Given the description of an element on the screen output the (x, y) to click on. 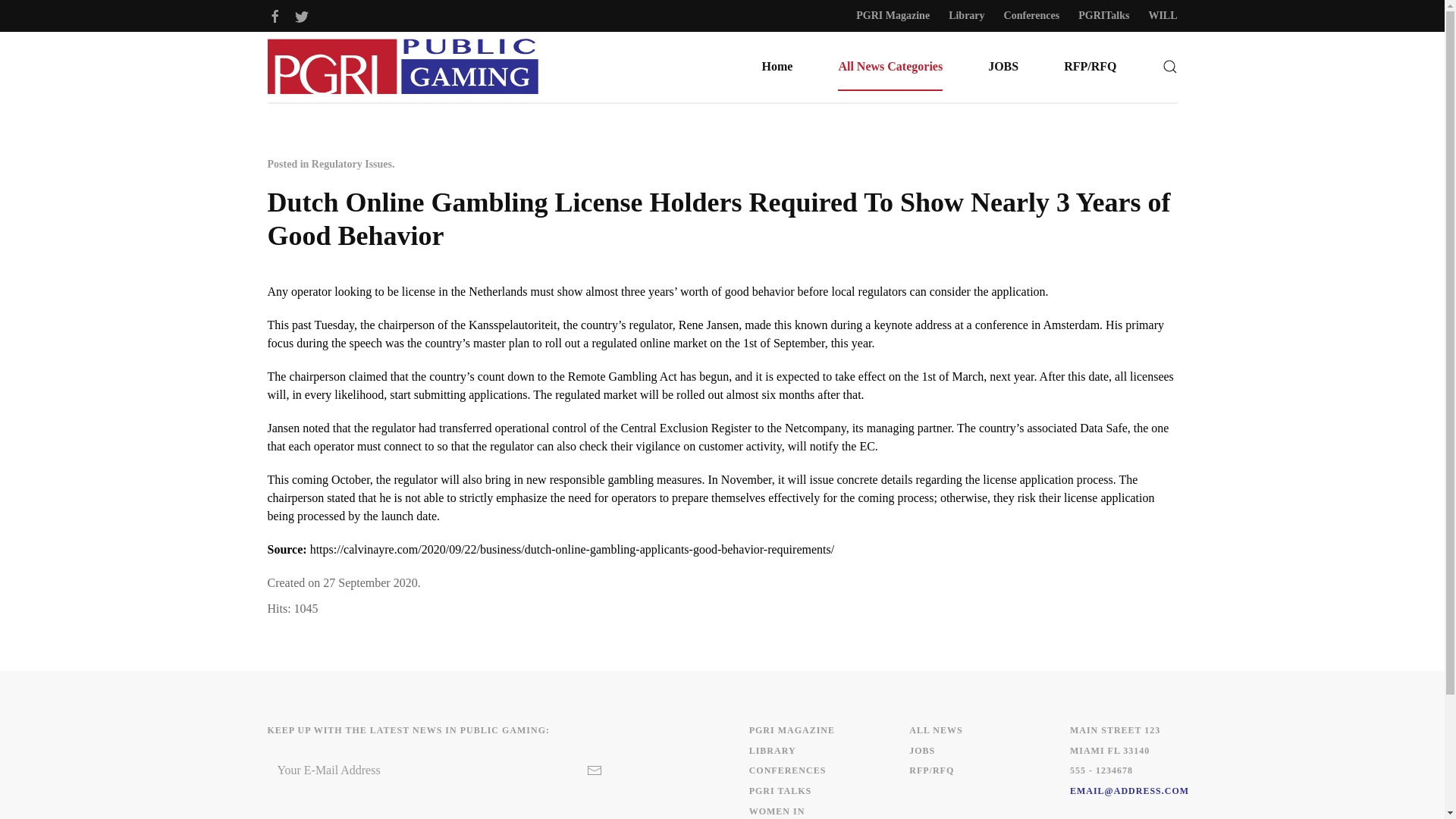
Home (777, 66)
Conferences (1031, 15)
All News Categories (890, 66)
Netherlands online casinos (497, 291)
WILL (1162, 15)
PGRI Magazine (893, 15)
PGRITalks (1103, 15)
Library (966, 15)
